Given the description of an element on the screen output the (x, y) to click on. 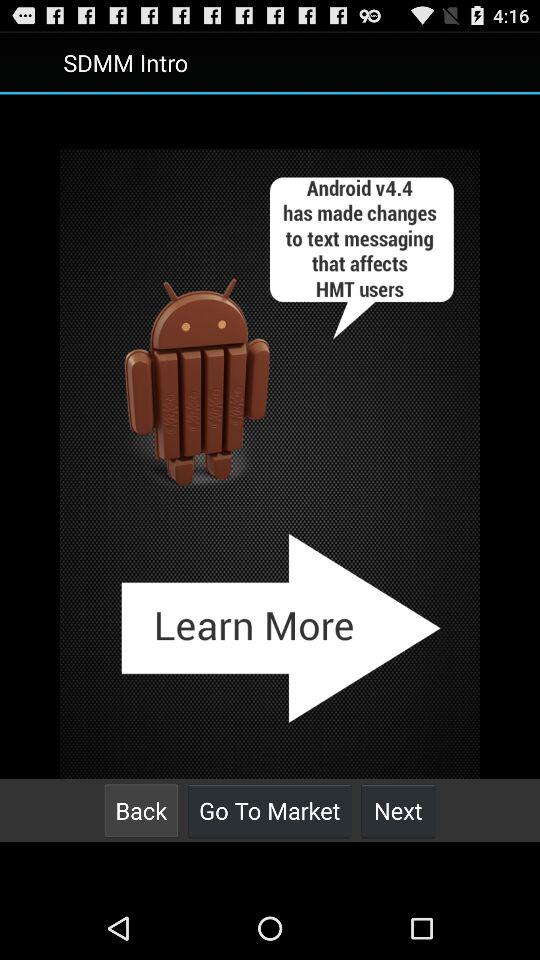
turn off next at the bottom right corner (398, 810)
